Given the description of an element on the screen output the (x, y) to click on. 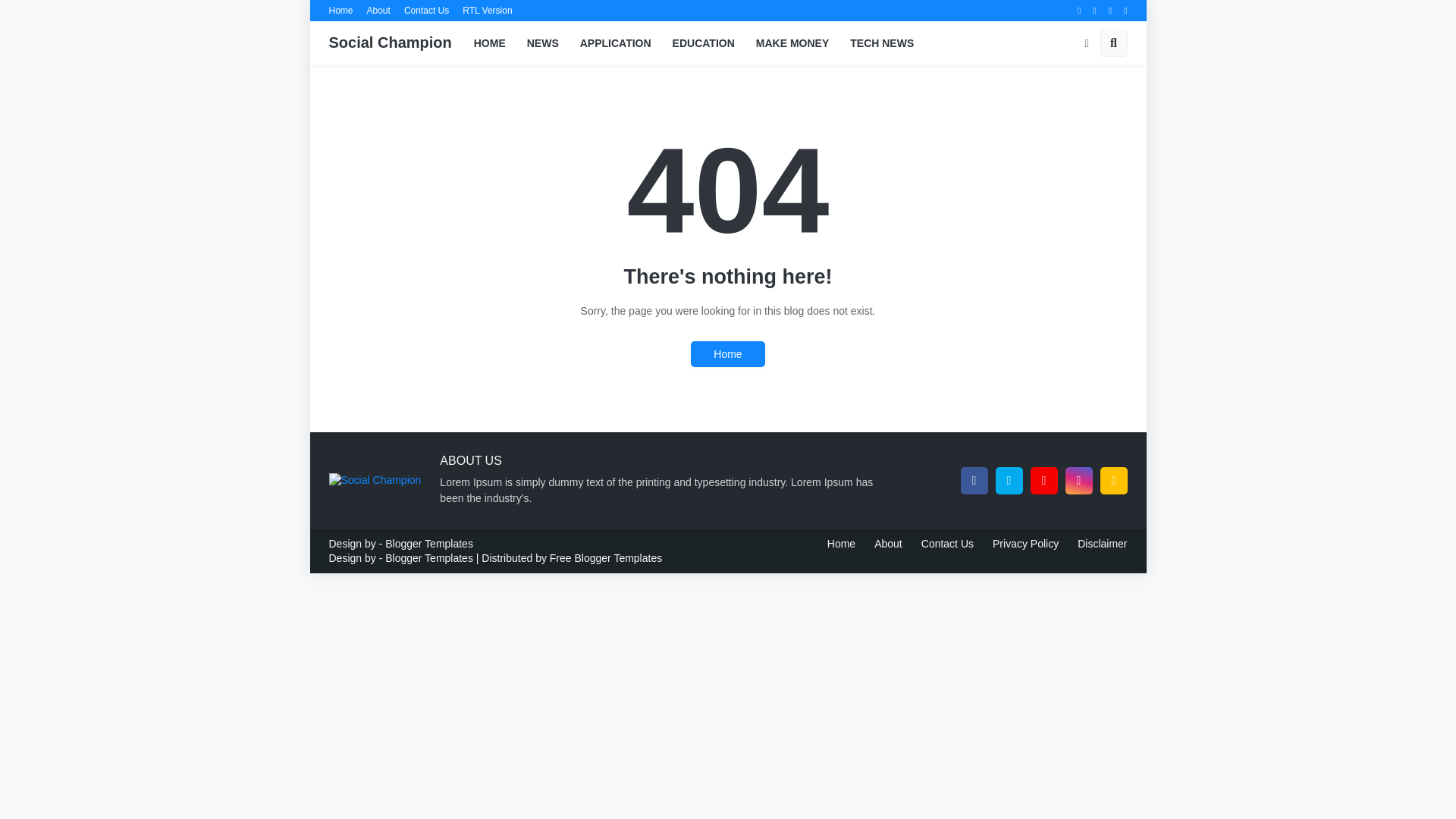
About (378, 10)
instagram (1078, 480)
Home (727, 353)
NEWS (542, 43)
facebook-f (973, 480)
twitter (1008, 480)
EDUCATION (703, 43)
Search (1112, 42)
MAKE MONEY (792, 43)
Contact Us (426, 10)
TECH NEWS (882, 43)
youtube (1043, 480)
HOME (489, 43)
APPLICATION (615, 43)
Home (341, 10)
